Given the description of an element on the screen output the (x, y) to click on. 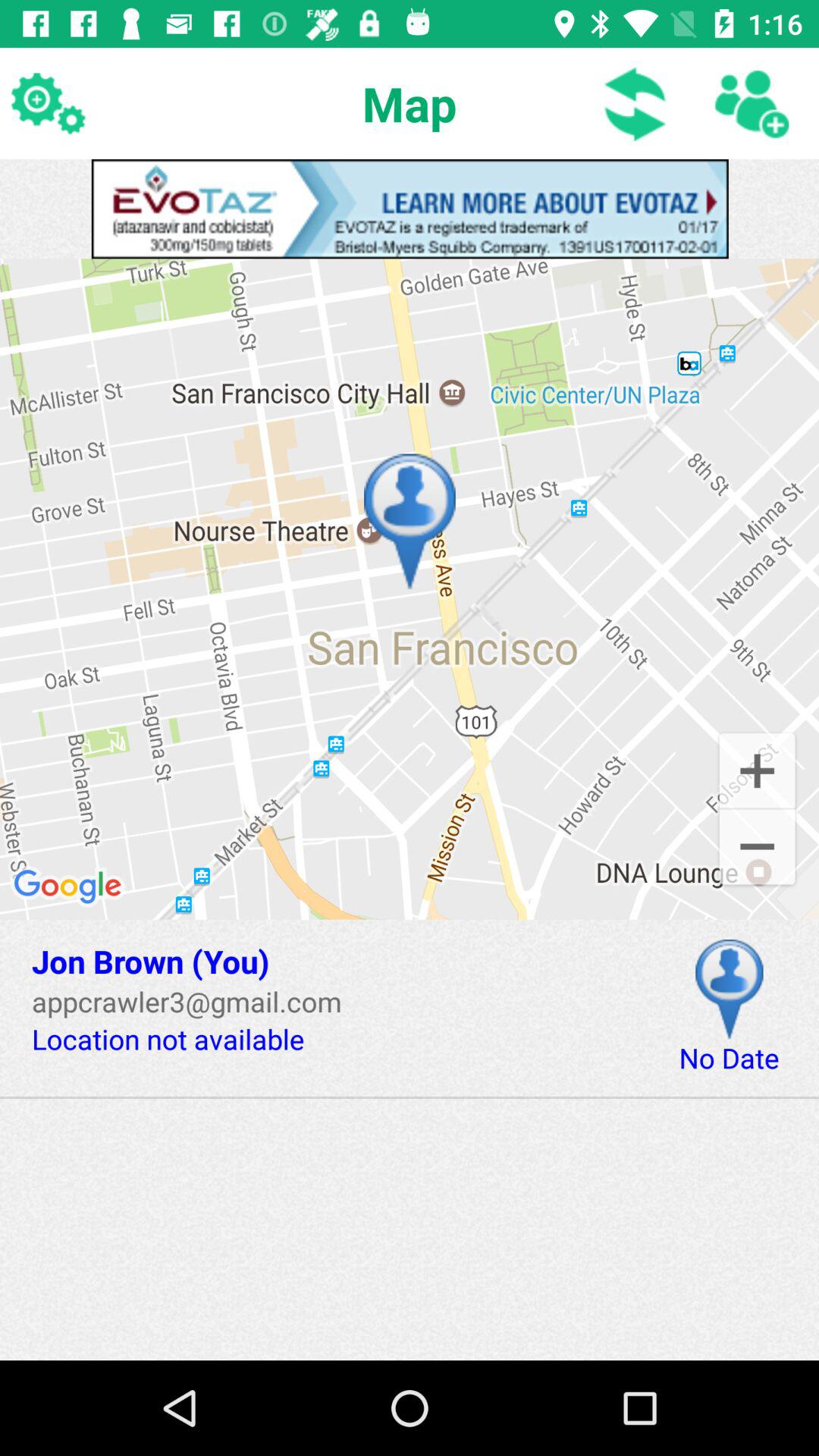
map of evotaz (409, 208)
